Given the description of an element on the screen output the (x, y) to click on. 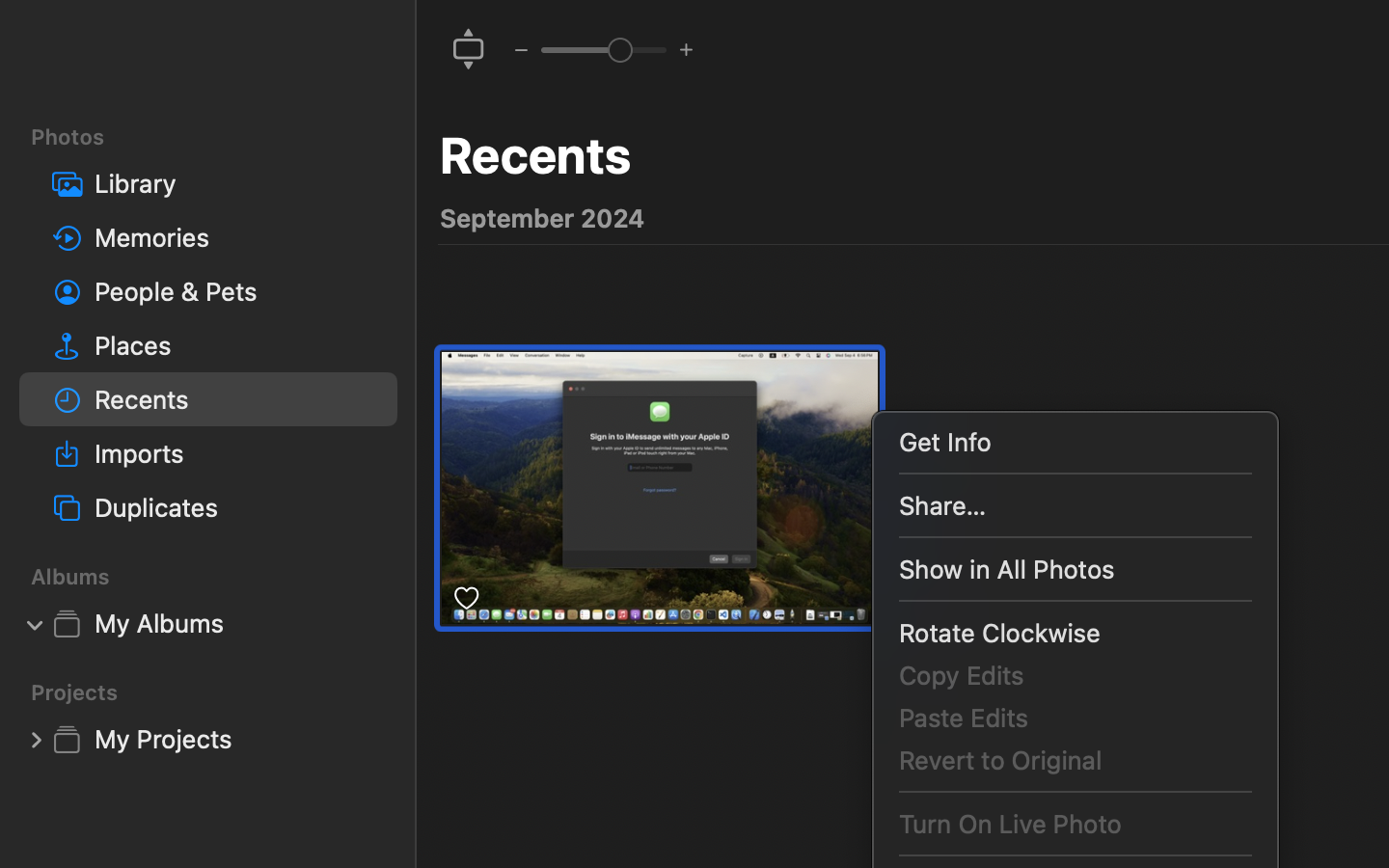
My Projects Element type: AXStaticText (237, 738)
1 Element type: AXDisclosureTriangle (35, 623)
Places Element type: AXStaticText (237, 344)
People & Pets Element type: AXStaticText (237, 290)
0 Element type: AXCheckBox (468, 50)
